Given the description of an element on the screen output the (x, y) to click on. 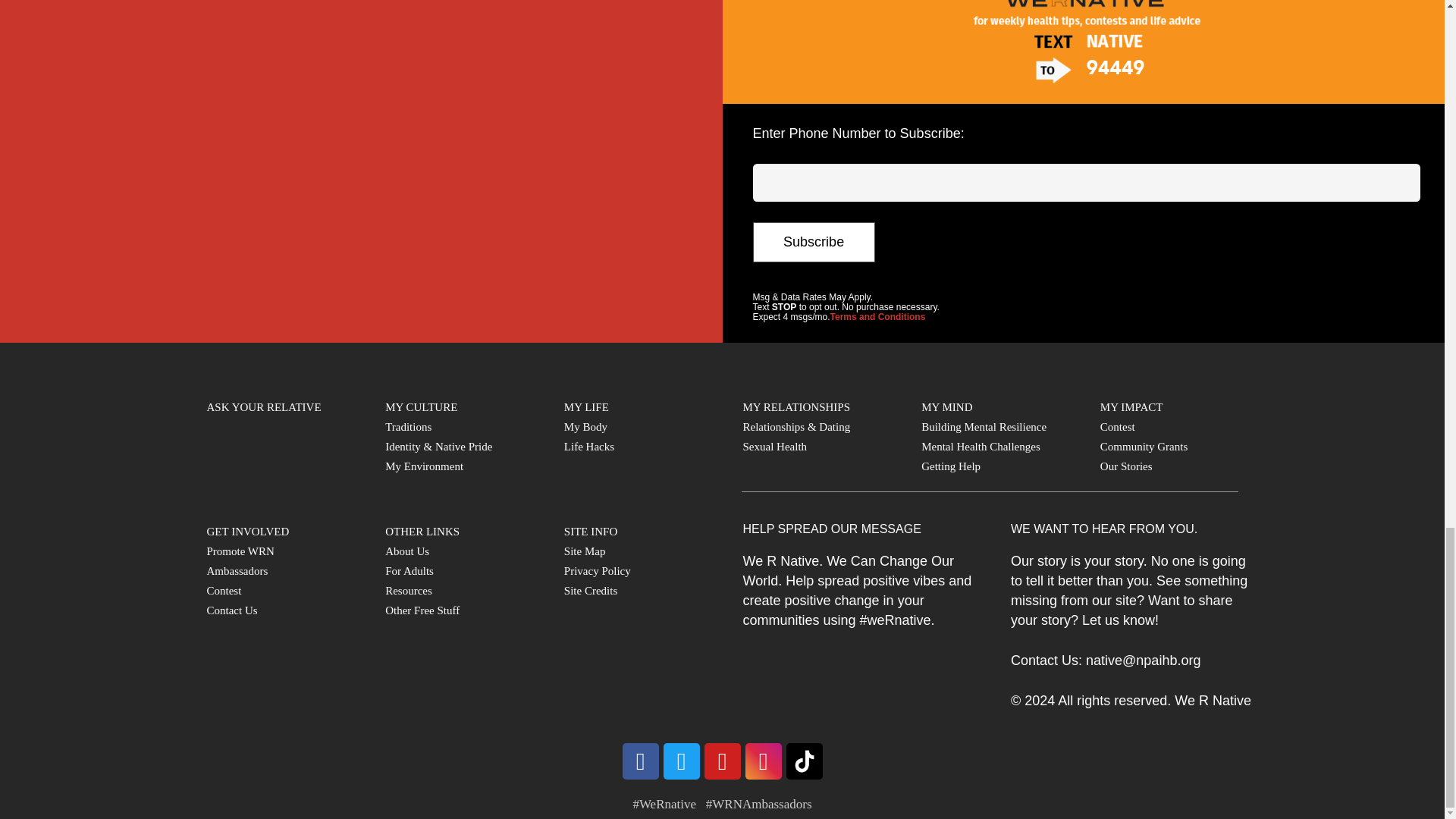
fb:page Facebook Social Plugin (358, 167)
Subscribe (813, 241)
twitter (680, 760)
facebook (639, 760)
